Given the description of an element on the screen output the (x, y) to click on. 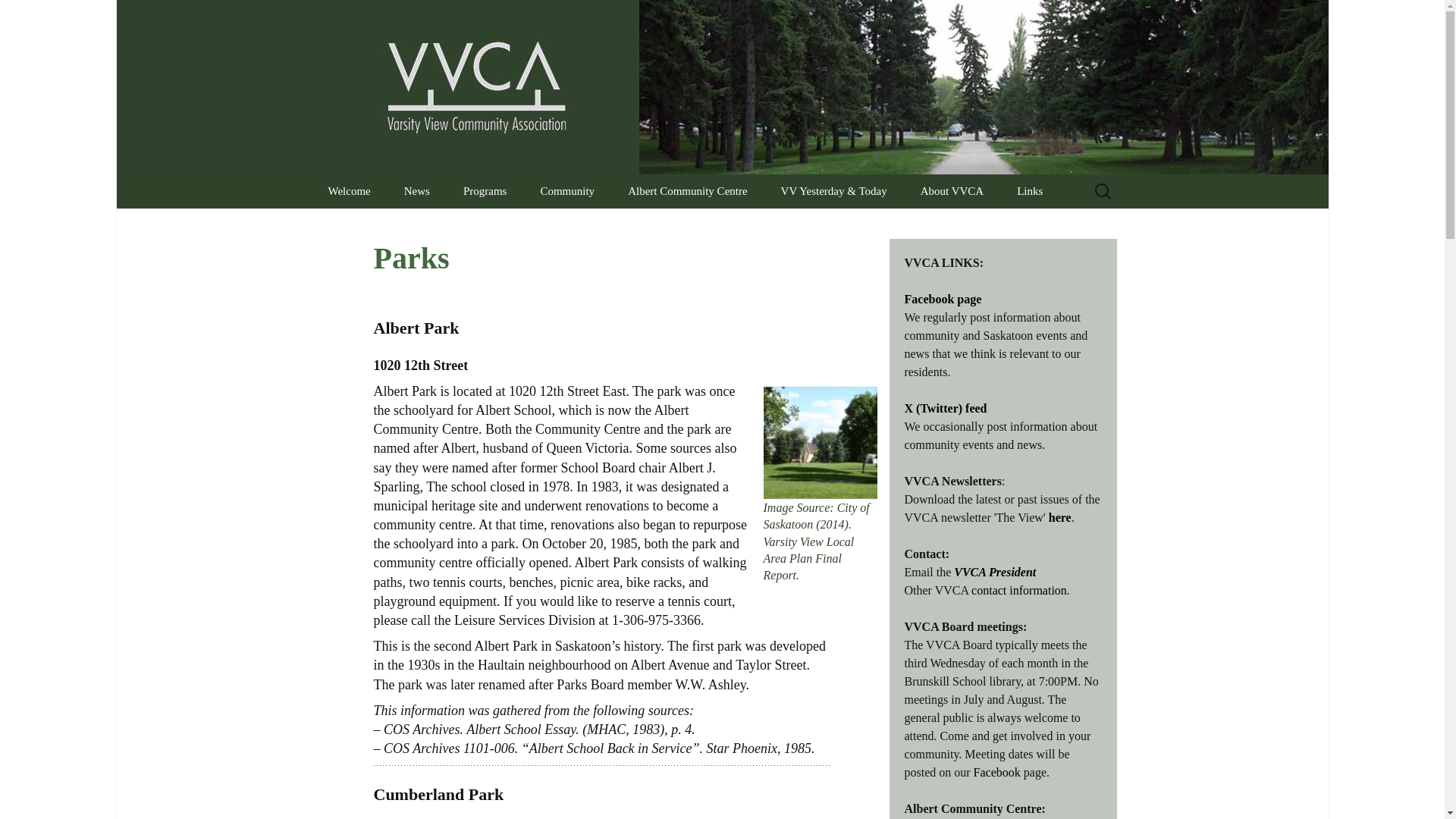
Albert Community Centre (686, 191)
News (416, 191)
Programs (485, 191)
General Information (688, 225)
Programs Info (523, 225)
Welcome (349, 191)
General History (841, 225)
Highrise at College and Clarence (600, 230)
Community (567, 191)
VVCA News (464, 225)
